Given the description of an element on the screen output the (x, y) to click on. 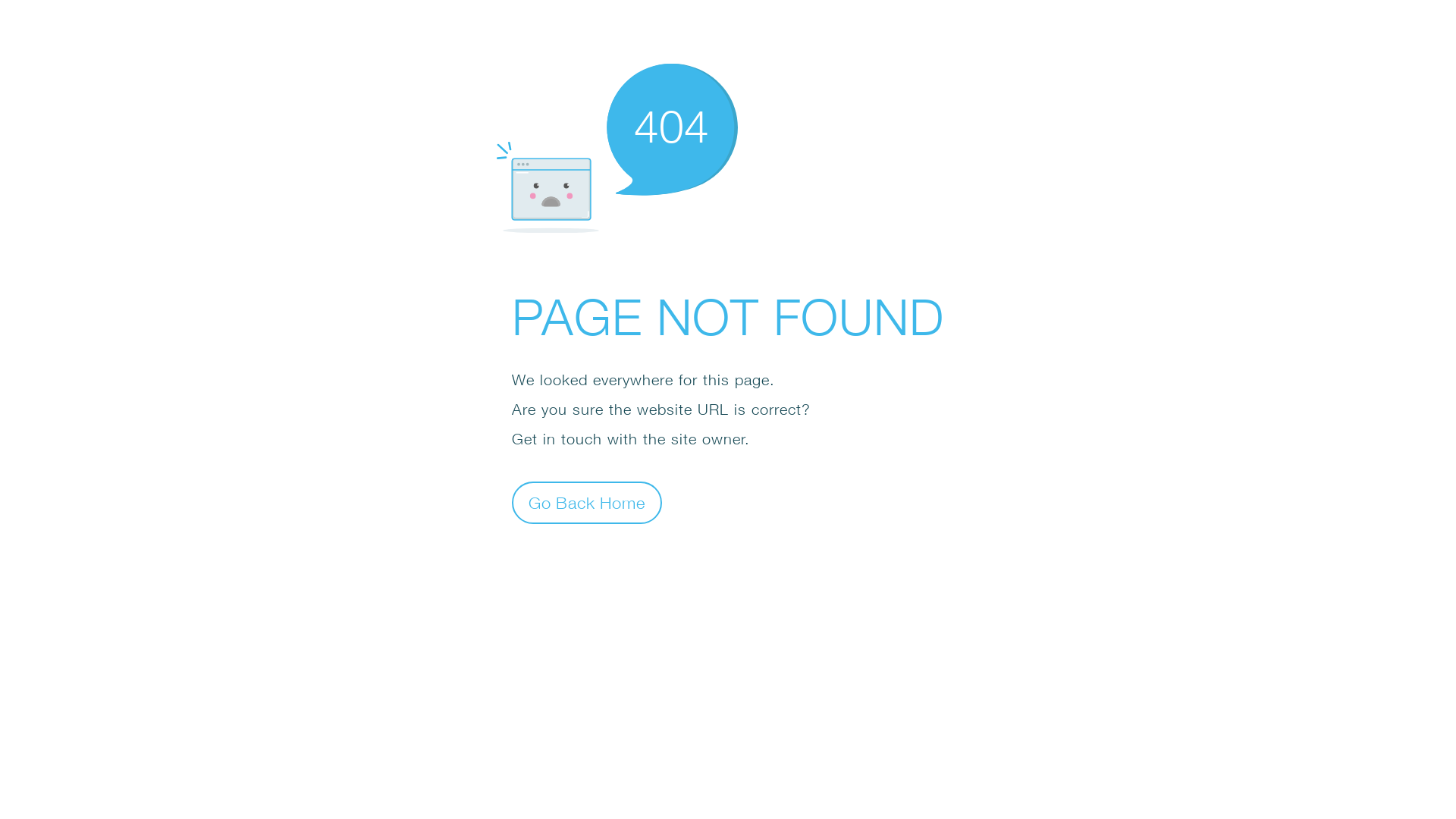
Go Back Home Element type: text (586, 502)
